Given the description of an element on the screen output the (x, y) to click on. 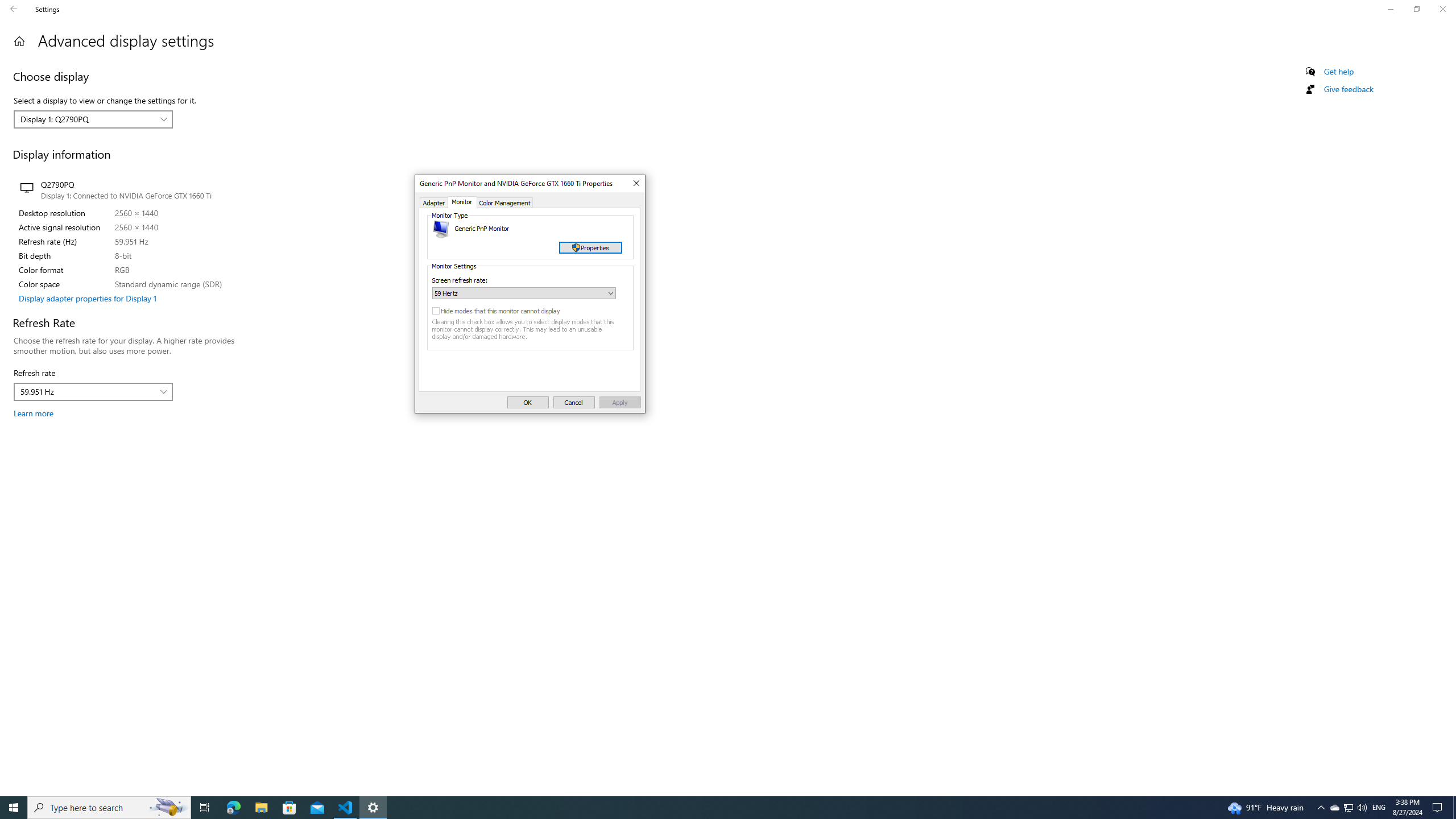
Properties (591, 246)
